Given the description of an element on the screen output the (x, y) to click on. 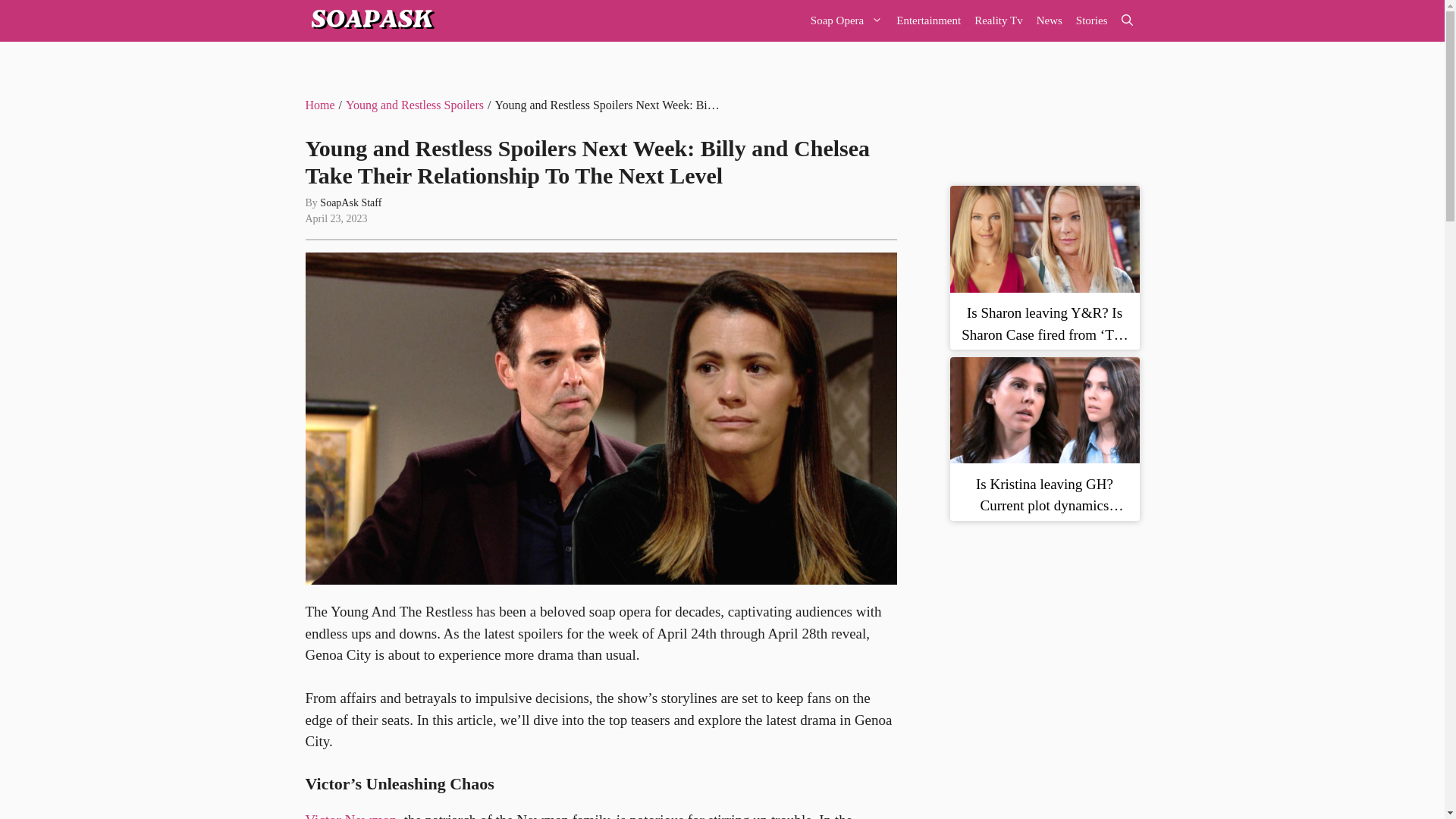
View all posts by SoapAsk Staff (350, 202)
Soap Opera (846, 20)
Is Kristina leaving GH? Current plot dynamics explained 4 (1043, 410)
SoapAsk (370, 20)
